Given the description of an element on the screen output the (x, y) to click on. 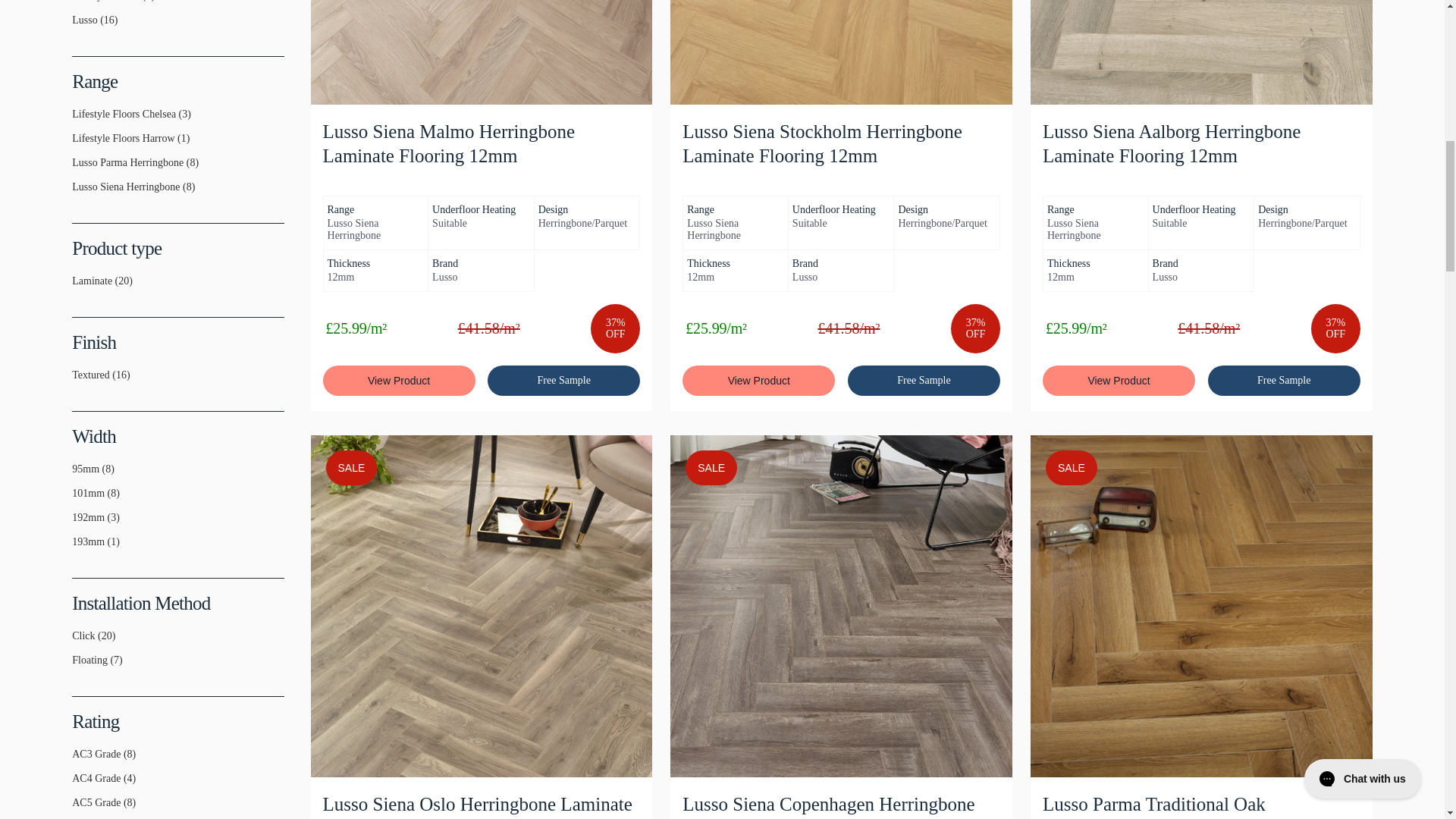
Click (77, 642)
192mm (77, 523)
193mm (77, 548)
Lifestyle Floors Harrow (77, 144)
Laminate (77, 287)
101mm (77, 499)
95mm (77, 475)
Textured (77, 381)
Lifestyle Floors Chelsea (77, 120)
Lifestyle Floors (77, 4)
Floating (77, 666)
Lusso Parma Herringbone (77, 168)
Lusso (77, 26)
Lusso Siena Herringbone (77, 193)
AC3 Grade (77, 760)
